Given the description of an element on the screen output the (x, y) to click on. 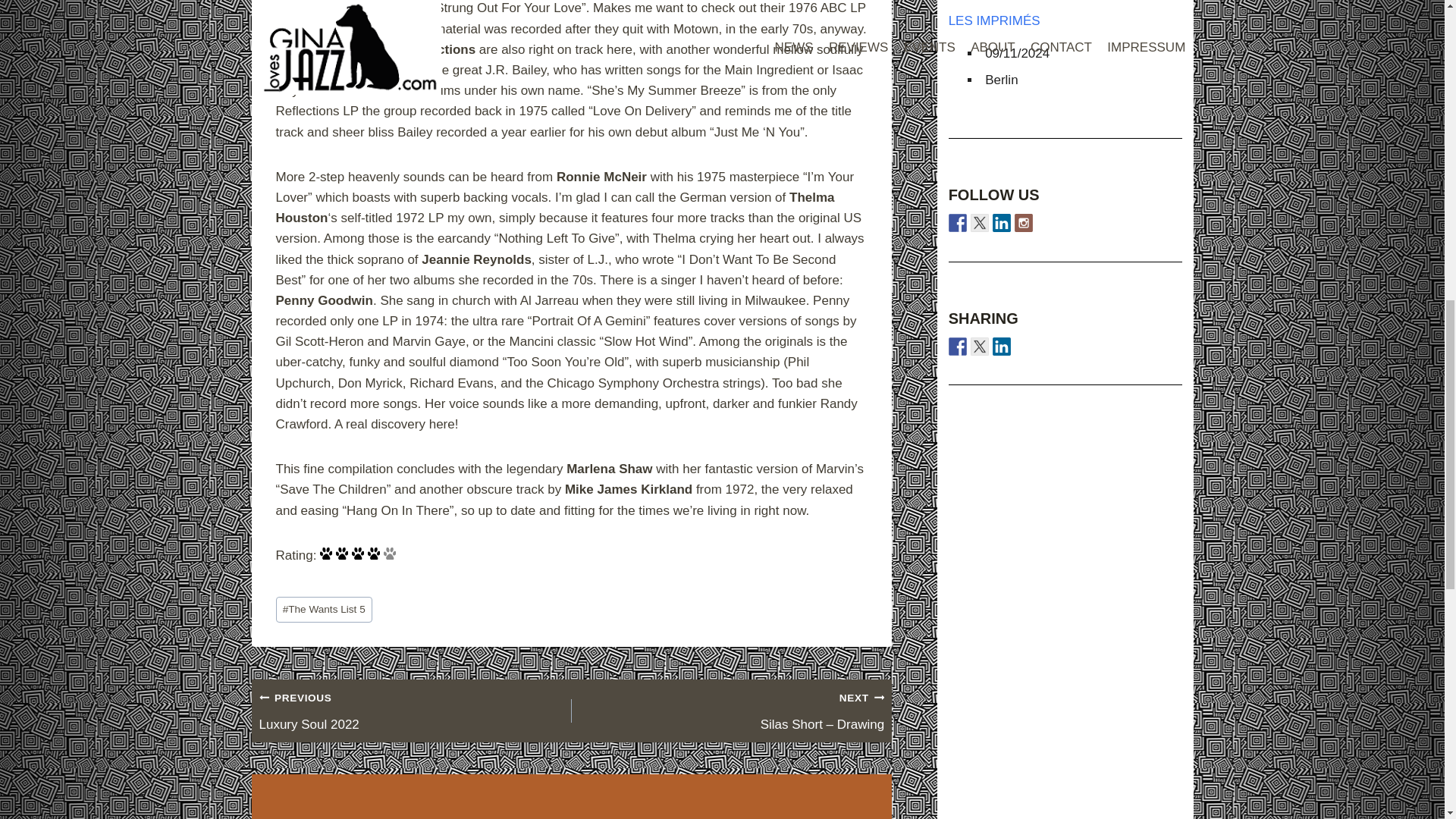
Share on Linkedin (1001, 346)
Follow us on Twitter (979, 222)
The Wants List 5 (324, 610)
Find us on Linkedin (415, 710)
Follow us (1001, 222)
www.ginalovesjazz.com - the jazz magazine by matthias kirsch (957, 222)
4 out of 5 stars (957, 346)
